Given the description of an element on the screen output the (x, y) to click on. 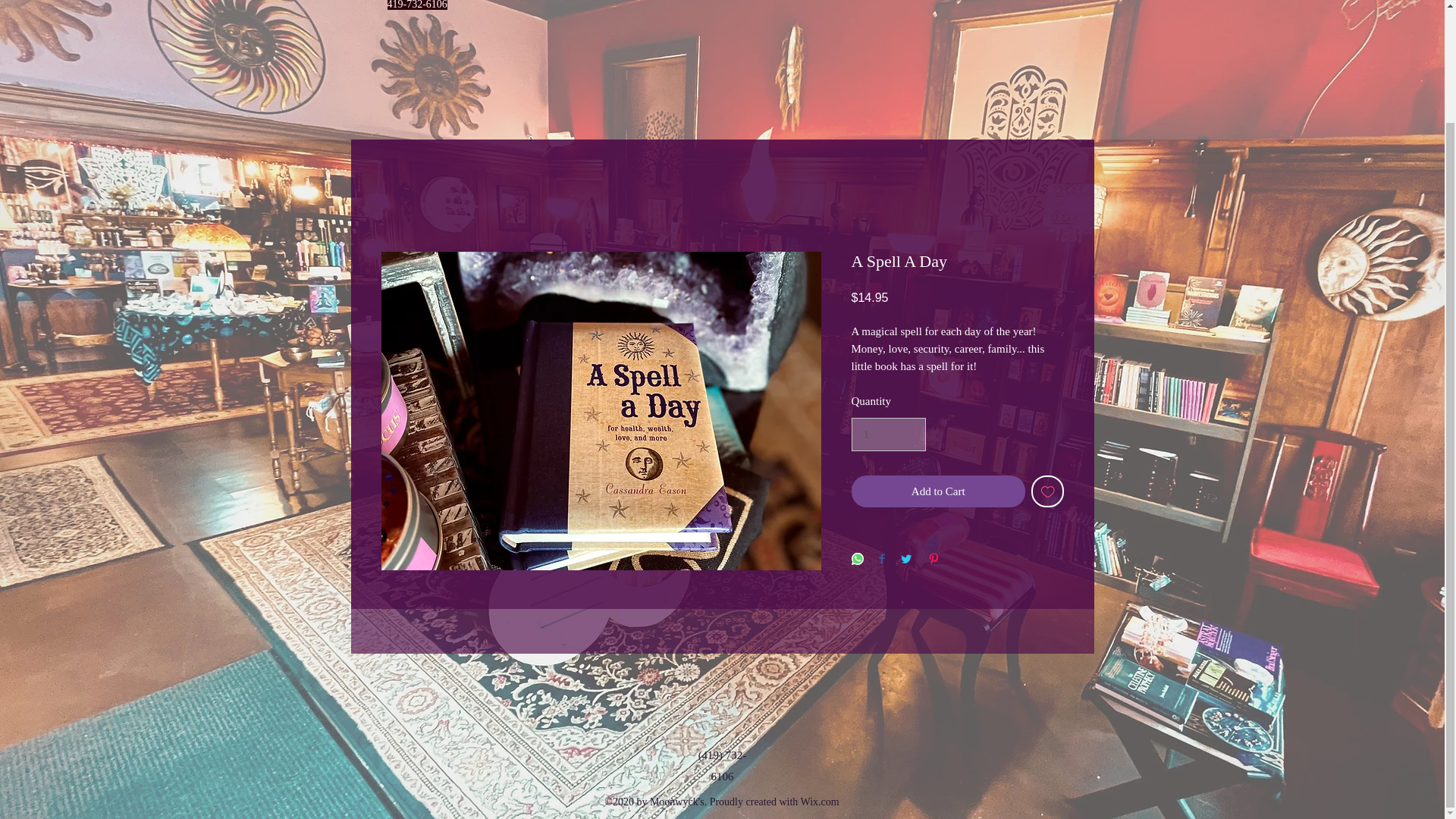
1 (887, 434)
Add to Cart (937, 491)
